Given the description of an element on the screen output the (x, y) to click on. 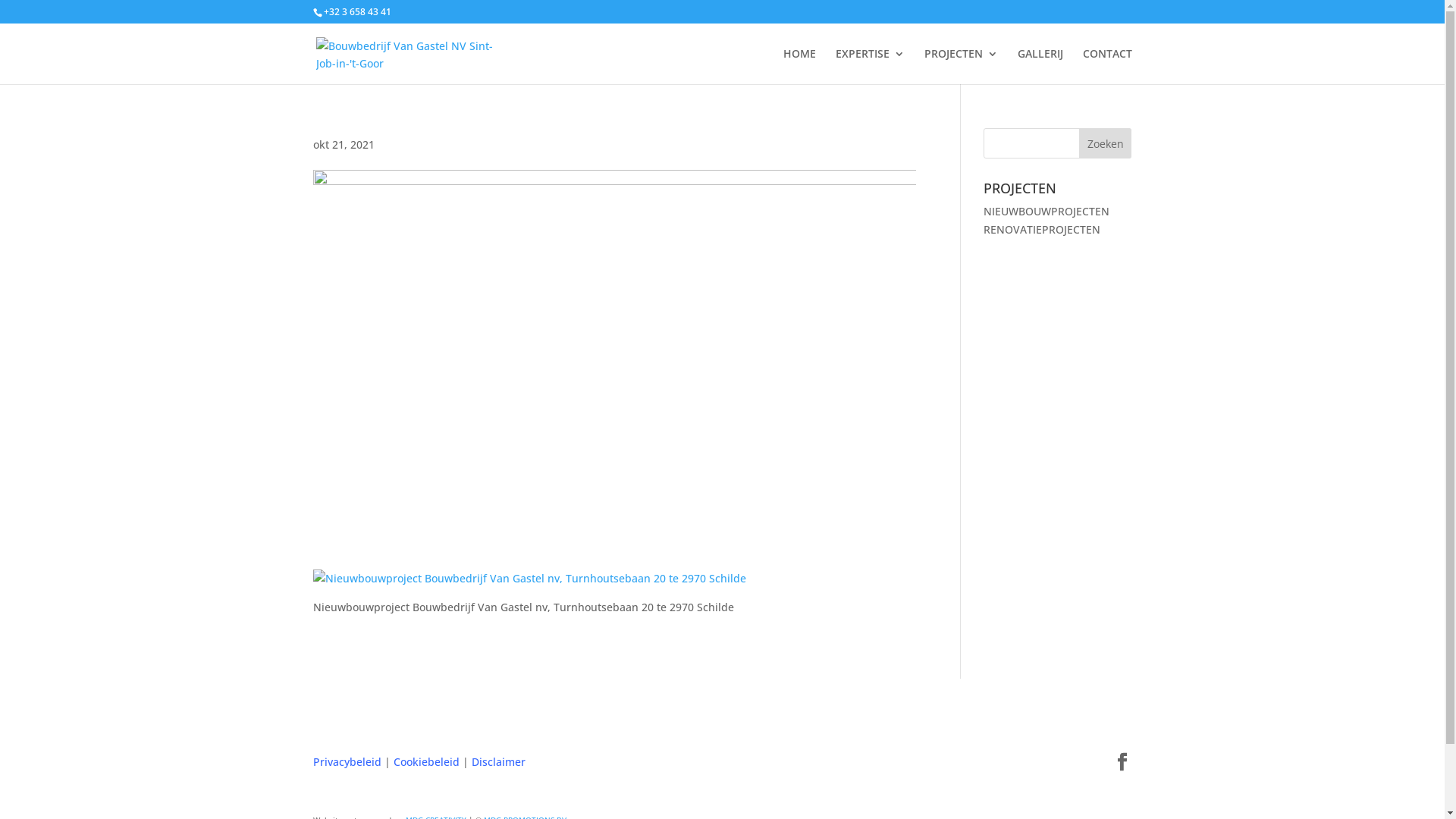
GALLERIJ Element type: text (1040, 66)
Privacybeleid Element type: text (346, 761)
EXPERTISE Element type: text (869, 66)
RENOVATIEPROJECTEN Element type: text (1041, 229)
CONTACT Element type: text (1107, 66)
PROJECTEN Element type: text (960, 66)
Disclaimer Element type: text (498, 761)
NIEUWBOUWPROJECTEN Element type: text (1046, 210)
HOME Element type: text (798, 66)
Zoeken Element type: text (1105, 143)
Cookiebeleid Element type: text (425, 761)
